Given the description of an element on the screen output the (x, y) to click on. 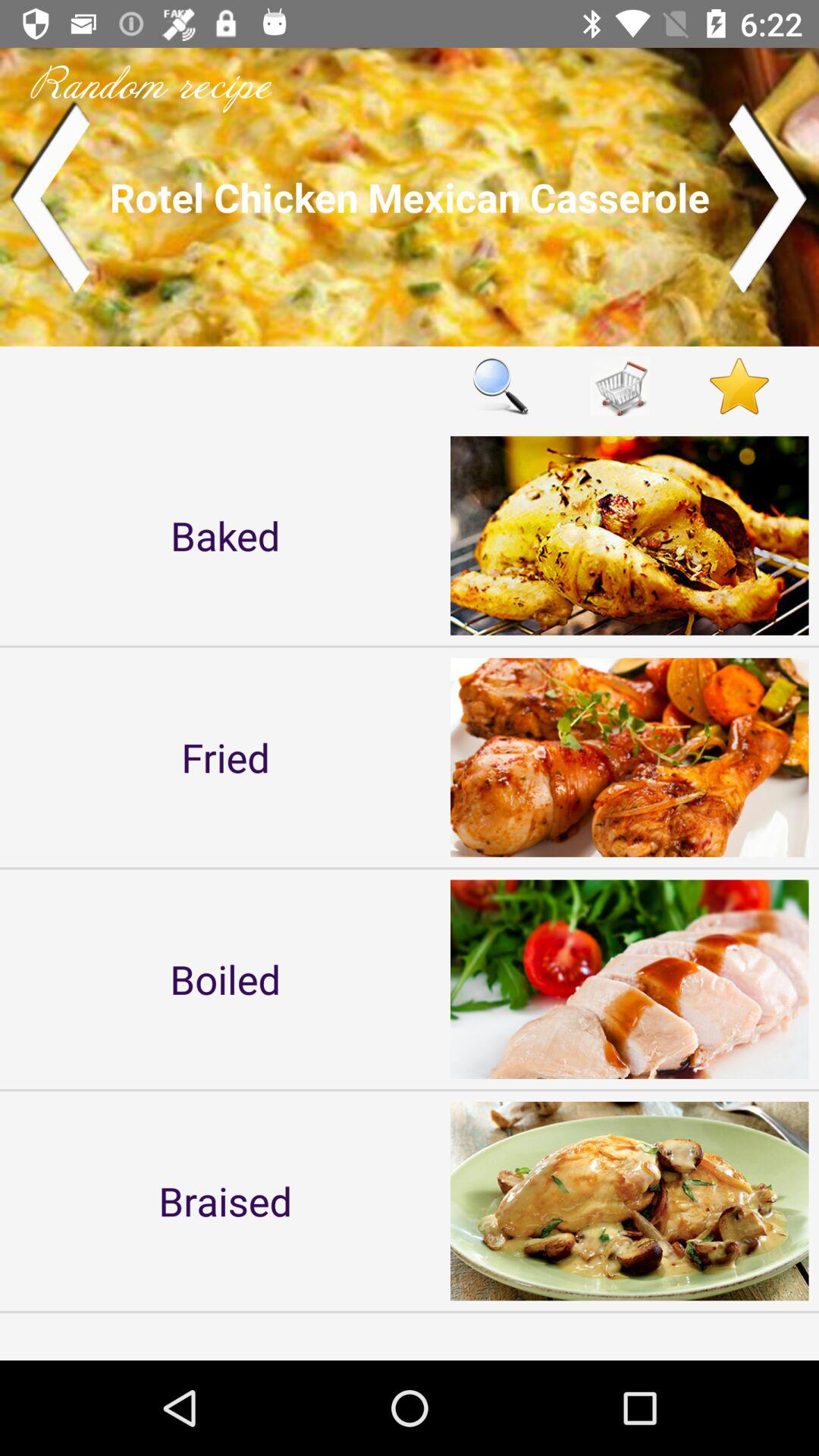
launch braised (225, 1200)
